Given the description of an element on the screen output the (x, y) to click on. 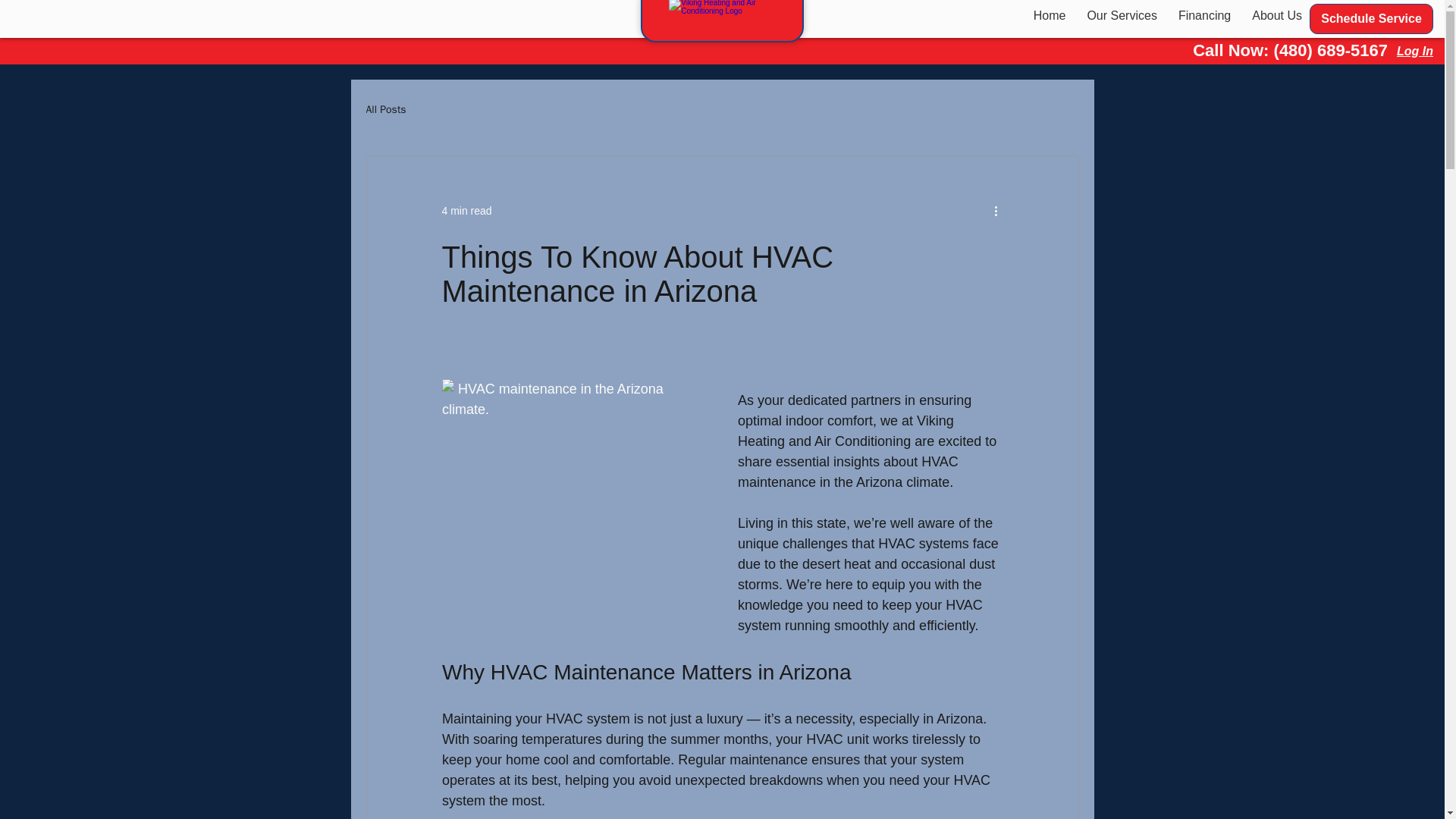
Financing (1204, 15)
4 min read (466, 210)
Our Services (1084, 15)
All Posts (1120, 15)
Schedule Service (385, 110)
Log In (1370, 19)
About Us (1414, 50)
Home (1276, 15)
